Given the description of an element on the screen output the (x, y) to click on. 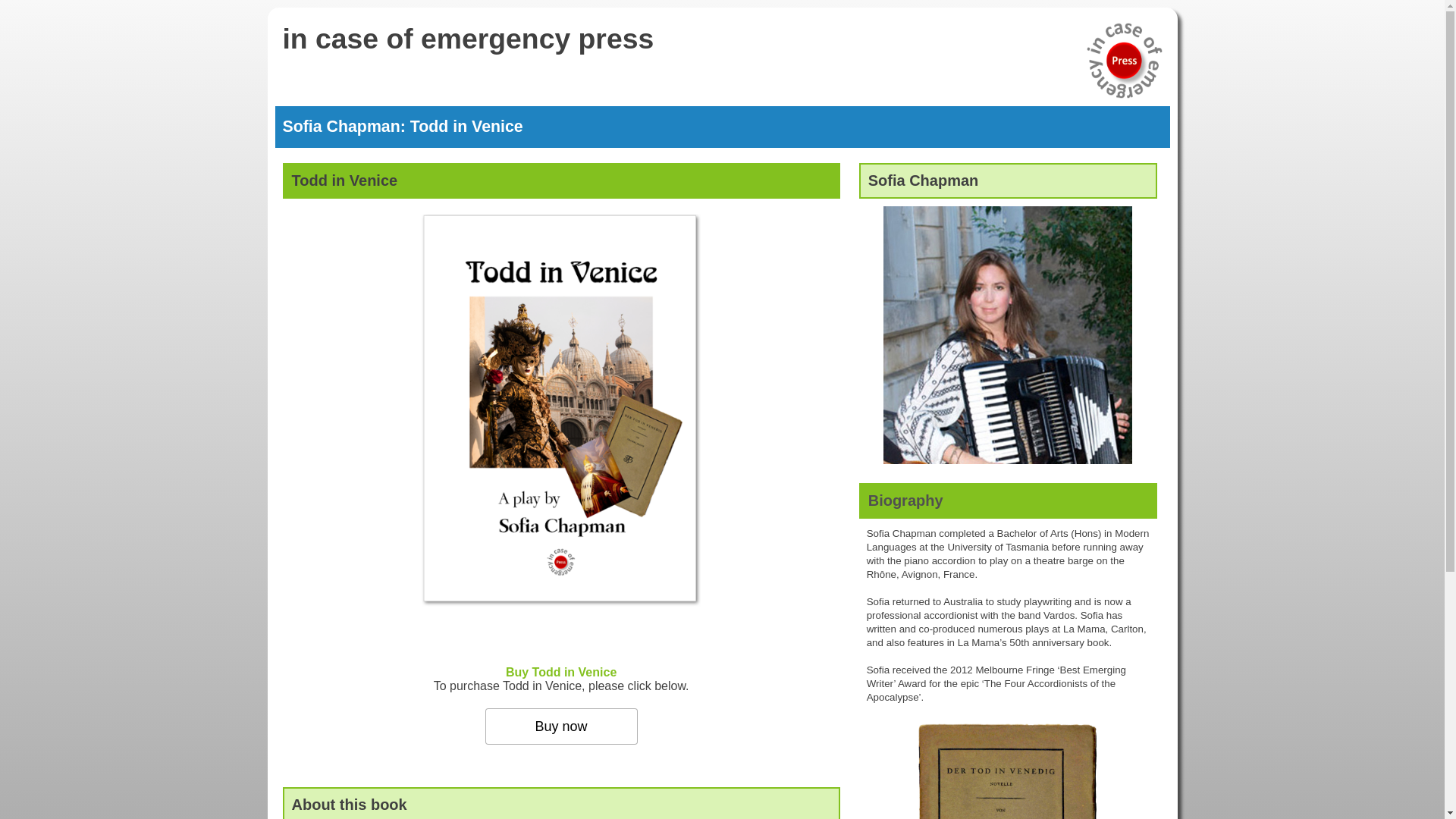
Buy now Element type: text (561, 726)
